Given the description of an element on the screen output the (x, y) to click on. 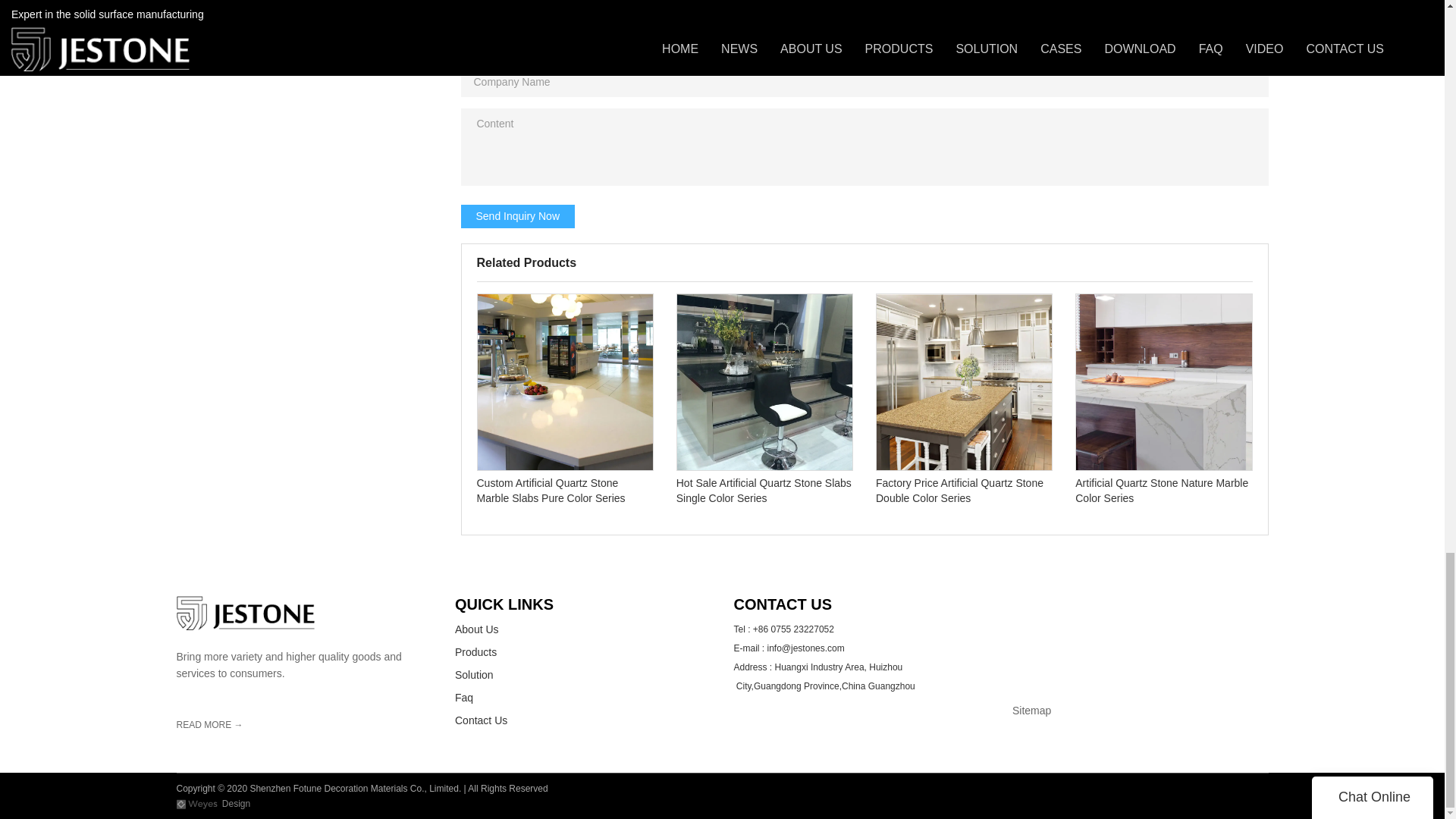
Send Inquiry Now (518, 215)
